Given the description of an element on the screen output the (x, y) to click on. 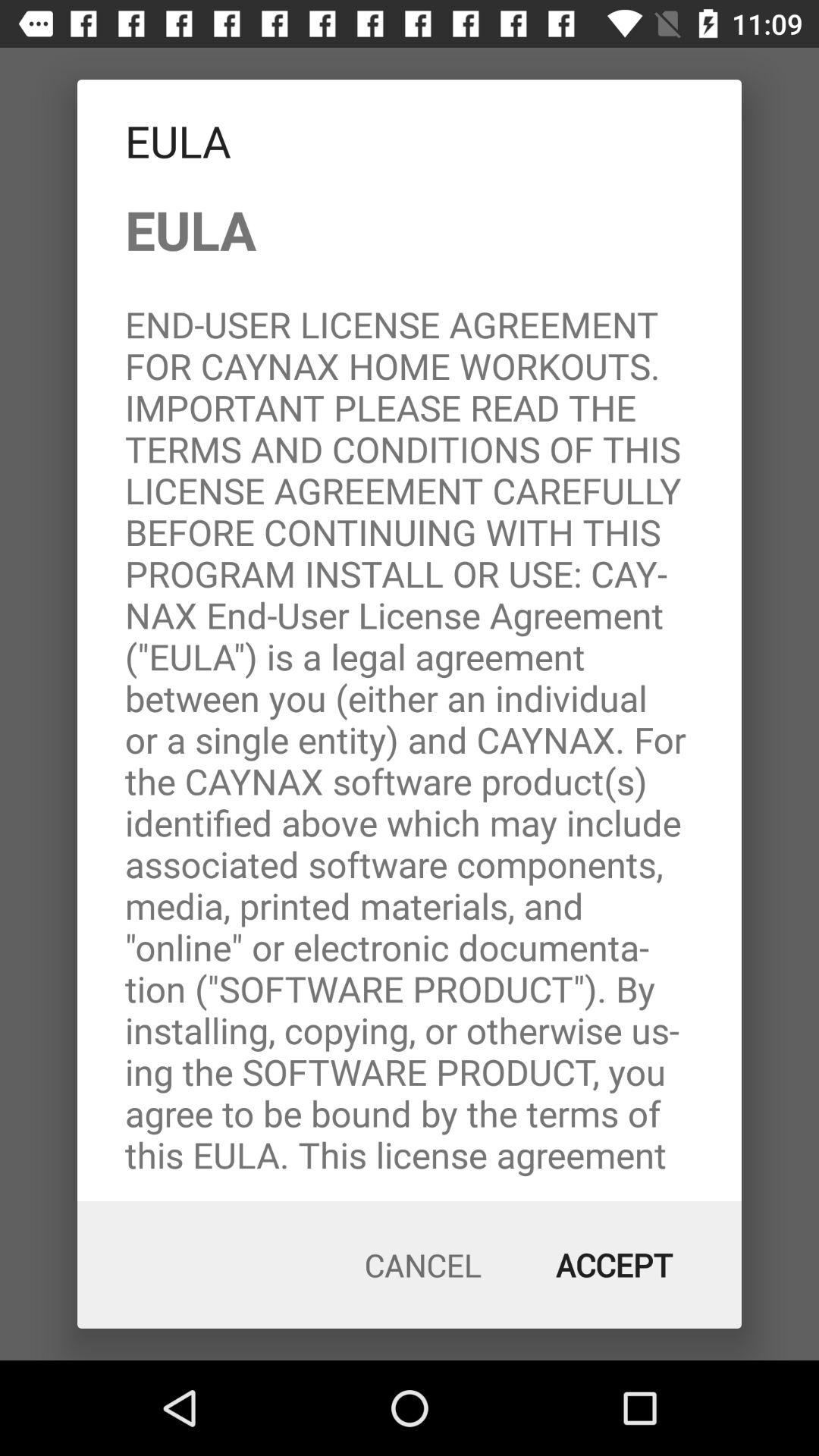
press the item at the bottom right corner (613, 1264)
